Given the description of an element on the screen output the (x, y) to click on. 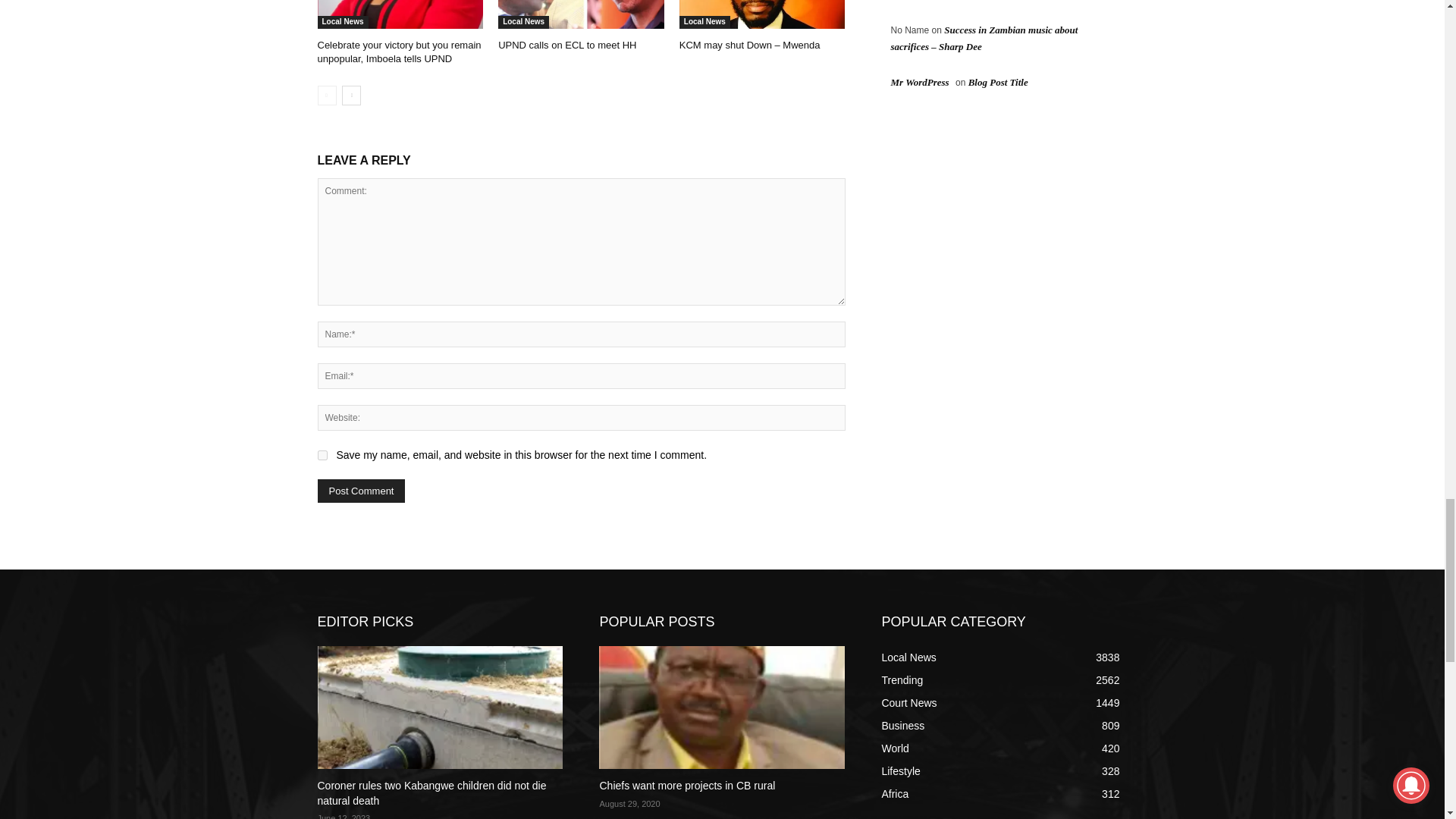
yes (321, 455)
Post Comment (360, 490)
